Given the description of an element on the screen output the (x, y) to click on. 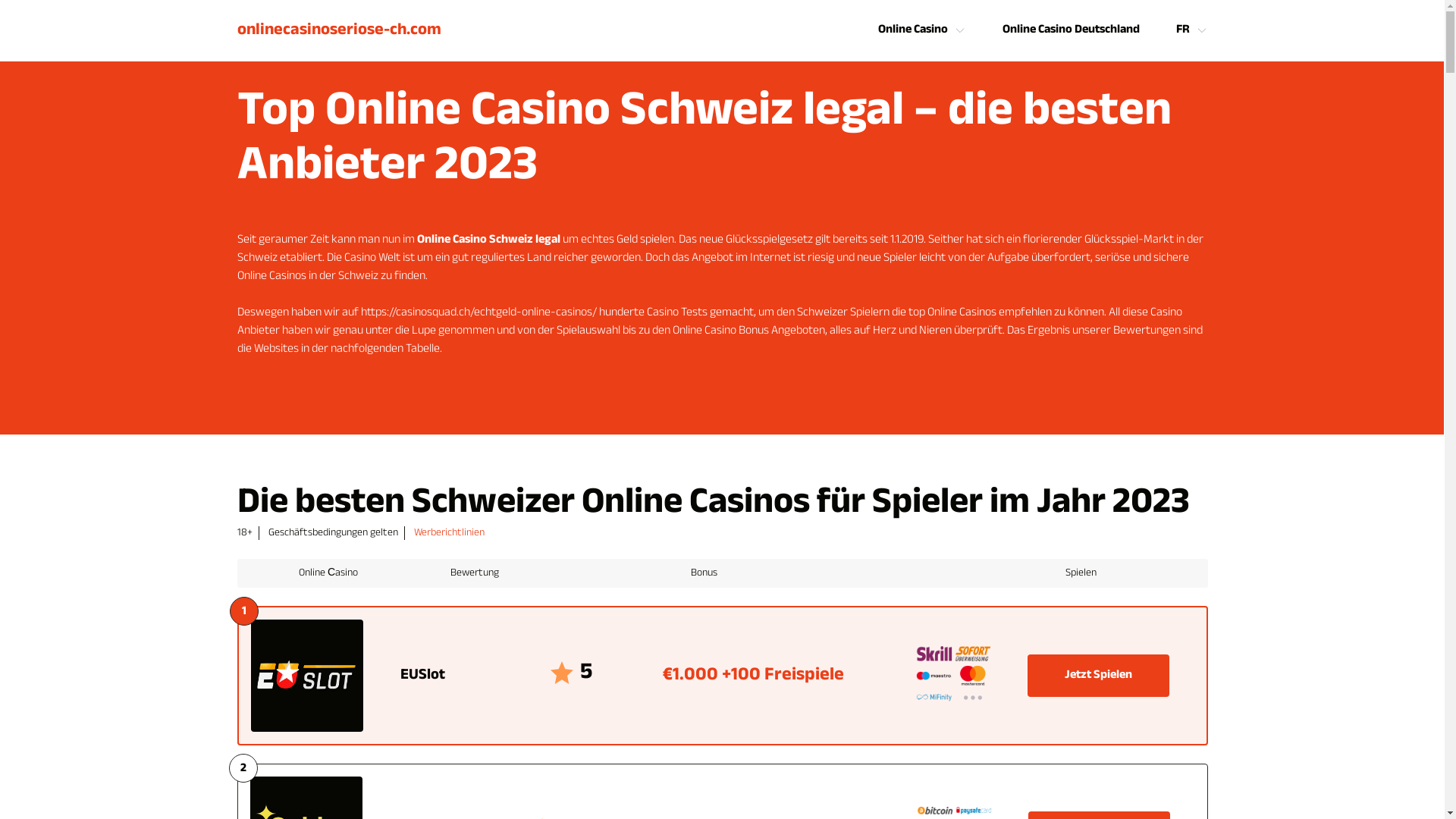
Werberichtlinien Element type: text (449, 532)
onlinecasinoseriose-ch.com Element type: text (338, 29)
https://casinosquad.ch/echtgeld-online-casinos/ Element type: text (478, 312)
Online Casino Deutschland Element type: text (1070, 30)
Jetzt Spielen Element type: text (1097, 675)
FR Element type: text (1182, 30)
Online Casino Element type: text (912, 30)
